Given the description of an element on the screen output the (x, y) to click on. 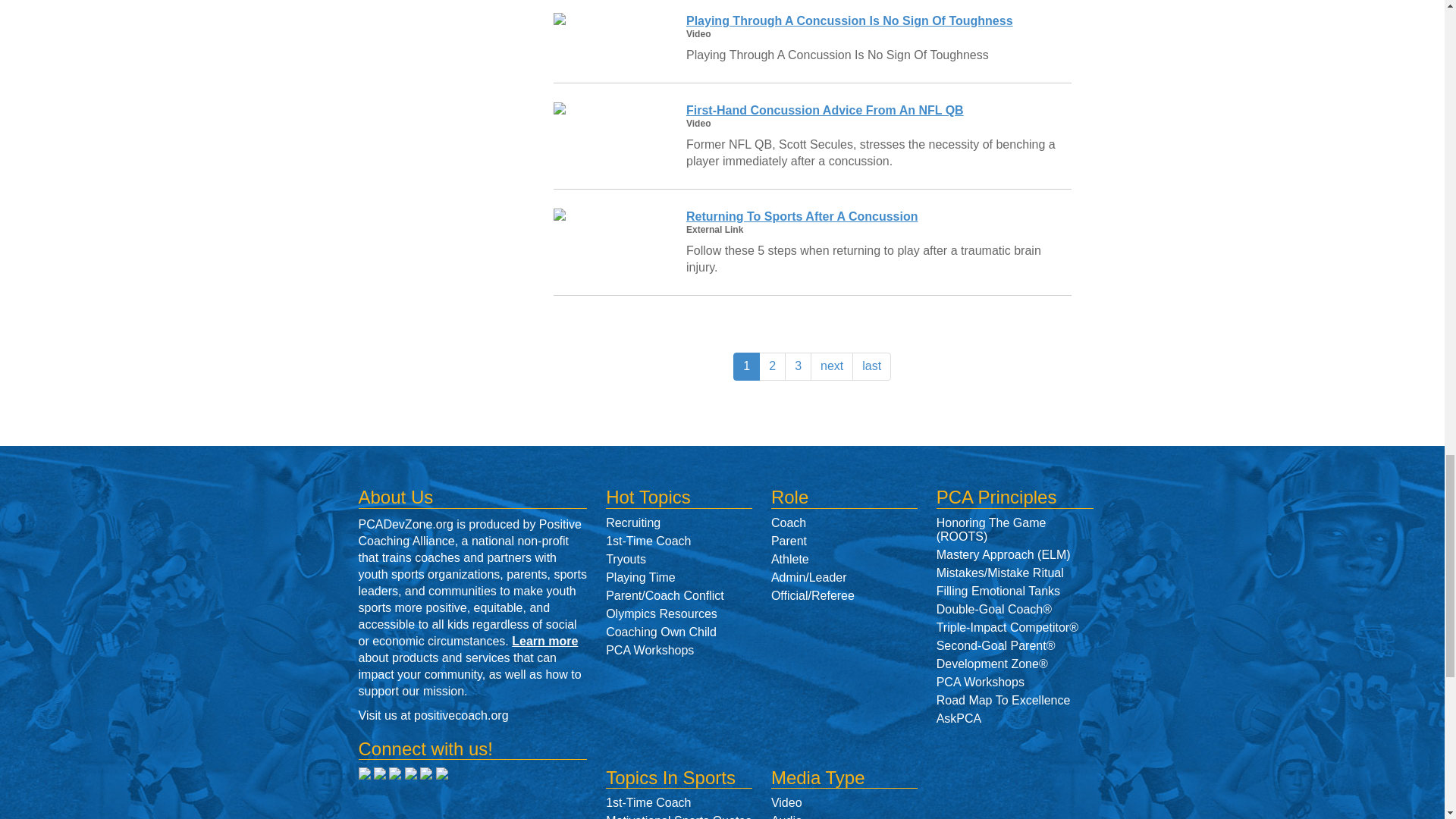
Go to page 3 (797, 366)
Go to page 2 (772, 366)
